Given the description of an element on the screen output the (x, y) to click on. 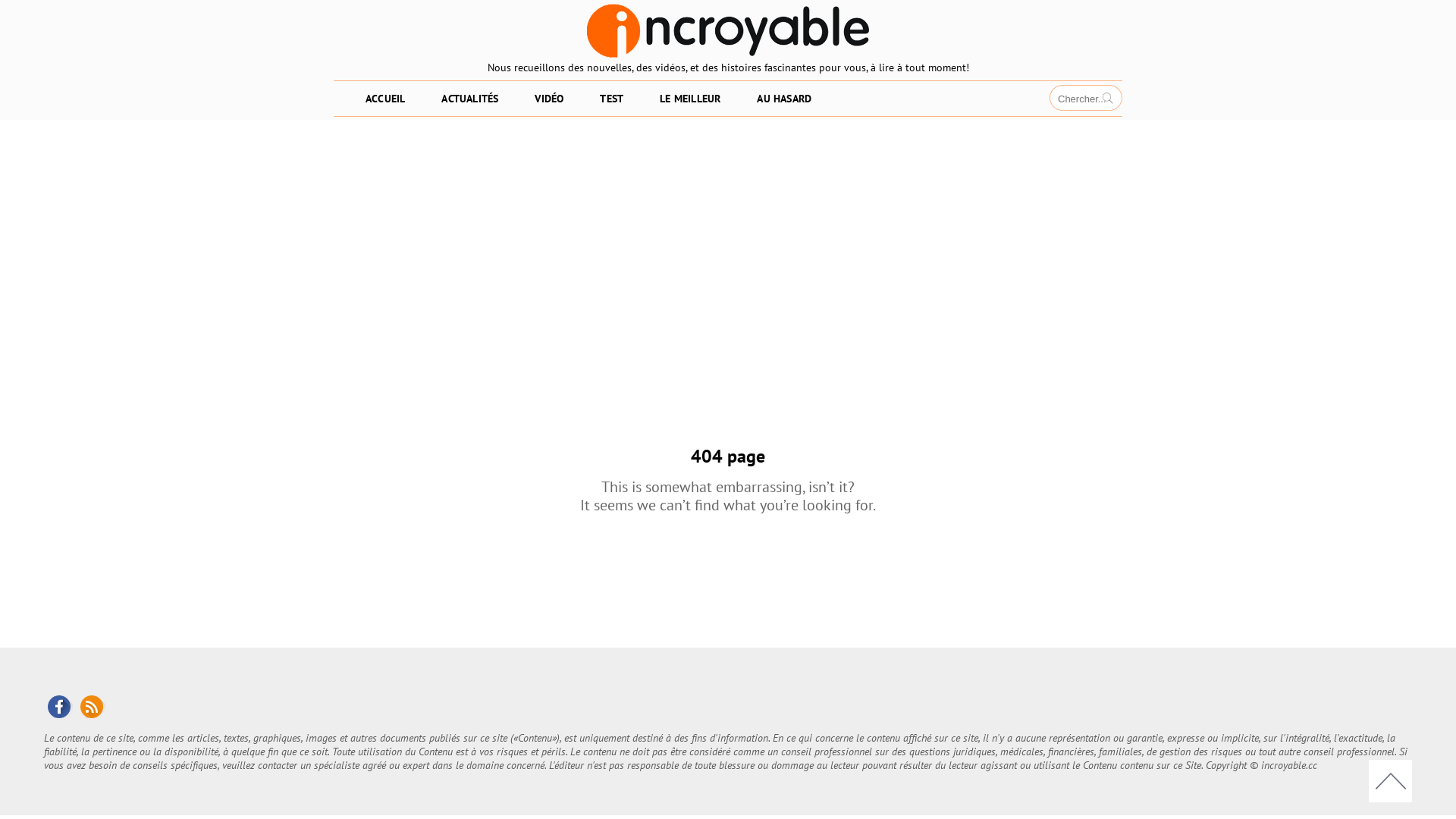
Facebook Element type: hover (57, 704)
Scroll Element type: text (1390, 780)
Chercher Element type: hover (1108, 101)
ACCUEIL Element type: text (385, 97)
RSS Element type: hover (90, 704)
LE MEILLEUR Element type: text (689, 97)
Seid immer in der Stimmung! Element type: hover (727, 28)
AU HASARD Element type: text (783, 97)
TEST Element type: text (611, 97)
Advertisement Element type: hover (728, 233)
